Given the description of an element on the screen output the (x, y) to click on. 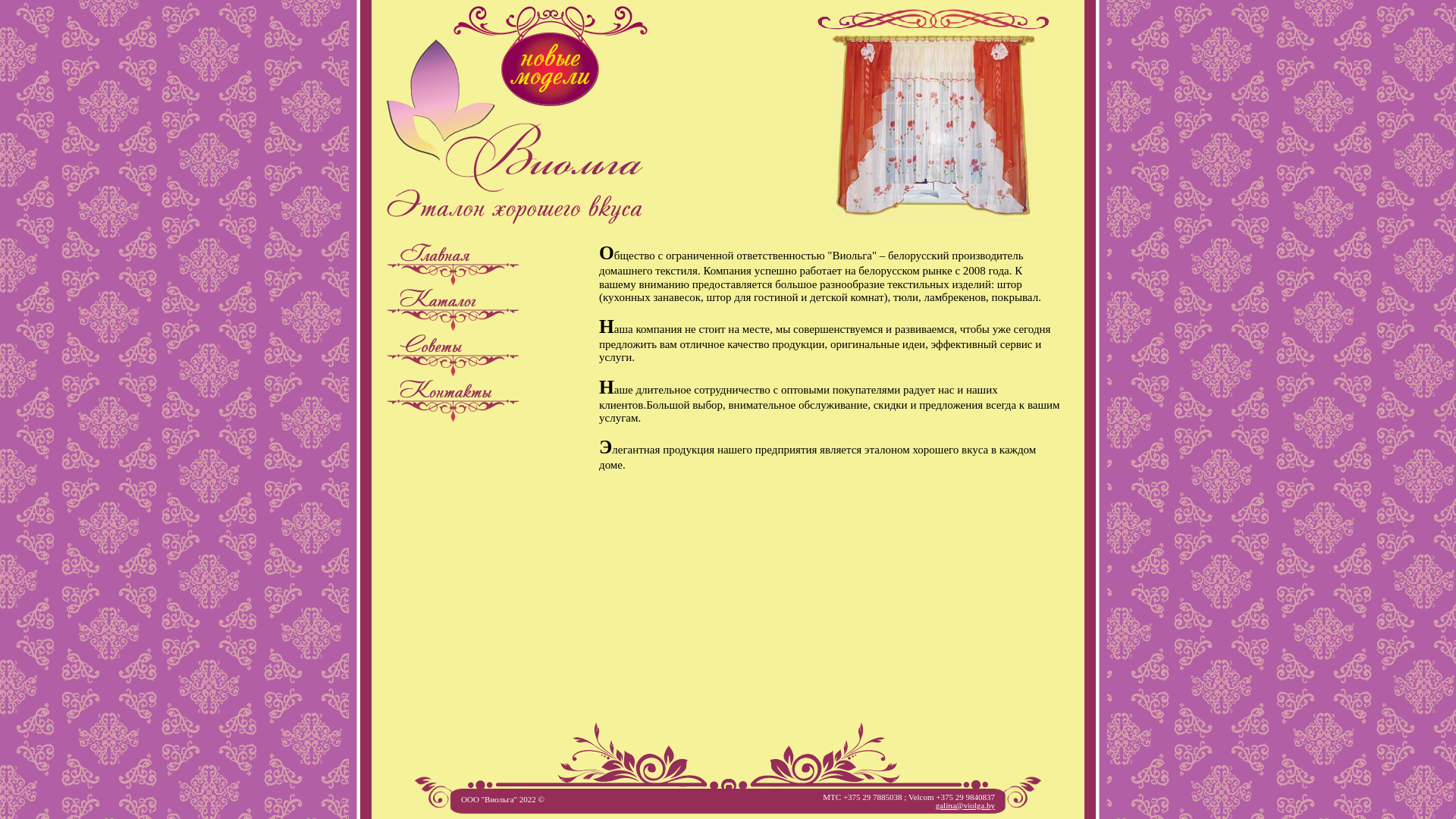
galina@violga.by Element type: text (964, 804)
